Given the description of an element on the screen output the (x, y) to click on. 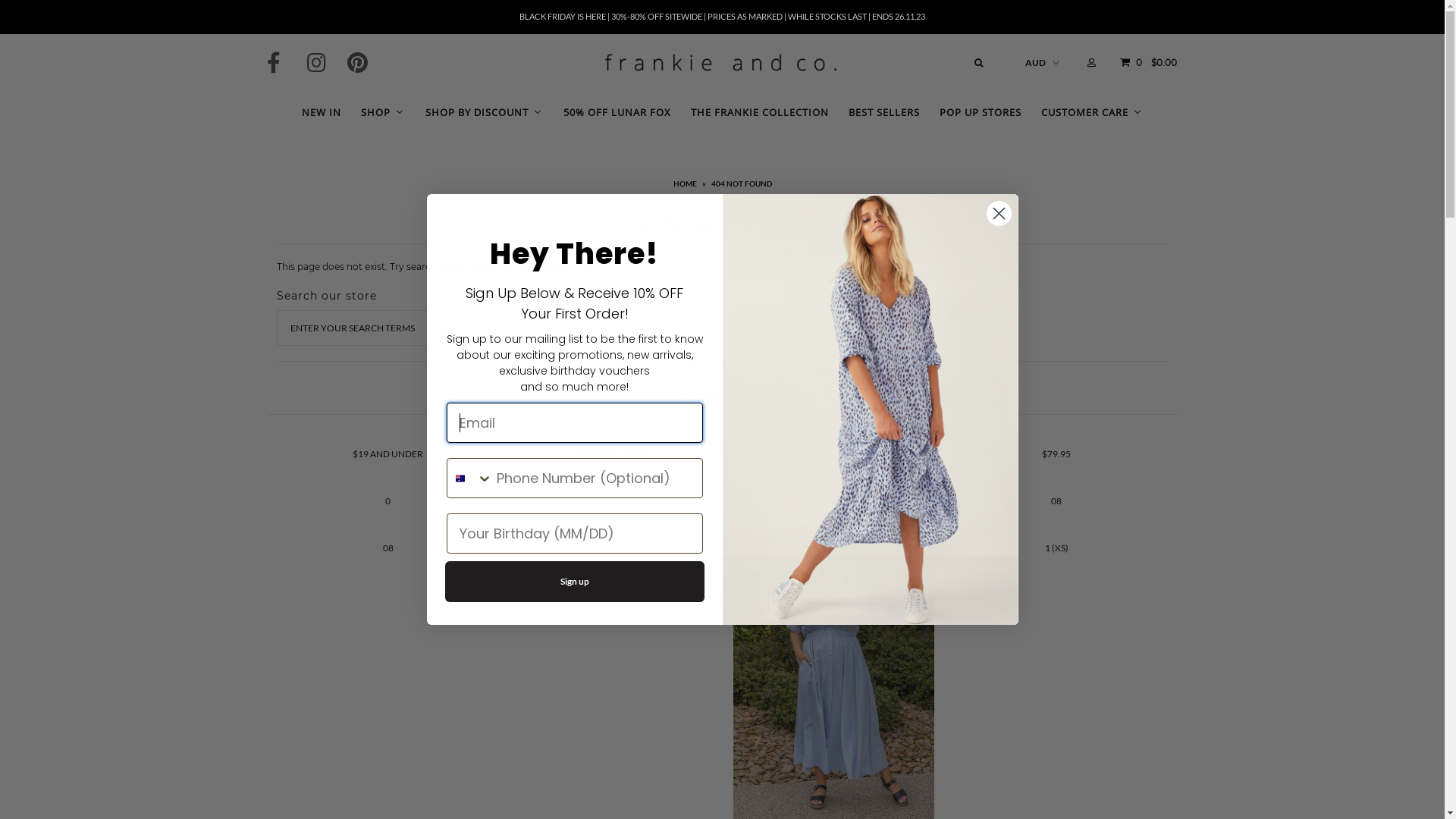
$29 AND UNDER Element type: text (610, 453)
$39 AND UNDER Element type: text (833, 453)
$79.95 Element type: text (1055, 453)
$19 AND UNDER Element type: text (387, 453)
08 Element type: text (387, 547)
06 Element type: text (833, 500)
1 (XS) Element type: text (1056, 547)
Australia Element type: hover (459, 477)
BEST SELLERS Element type: text (882, 110)
SHOP Element type: text (382, 109)
HOME Element type: text (686, 183)
1 Element type: text (610, 547)
CUSTOMER CARE Element type: text (1091, 110)
Submit Element type: text (295, 17)
0/XS Element type: text (610, 500)
Close dialog 1 Element type: text (998, 213)
  0  $0.00 Element type: text (1146, 60)
SHOP BY DISCOUNT Element type: text (483, 110)
50% OFF LUNAR FOX Element type: text (616, 110)
More Element type: text (956, 581)
THE FRANKIE COLLECTION Element type: text (758, 110)
0 Element type: text (387, 500)
POP UP STORES Element type: text (979, 110)
Sign up Element type: text (573, 581)
08 Element type: text (1056, 500)
NEW IN Element type: text (320, 109)
